Given the description of an element on the screen output the (x, y) to click on. 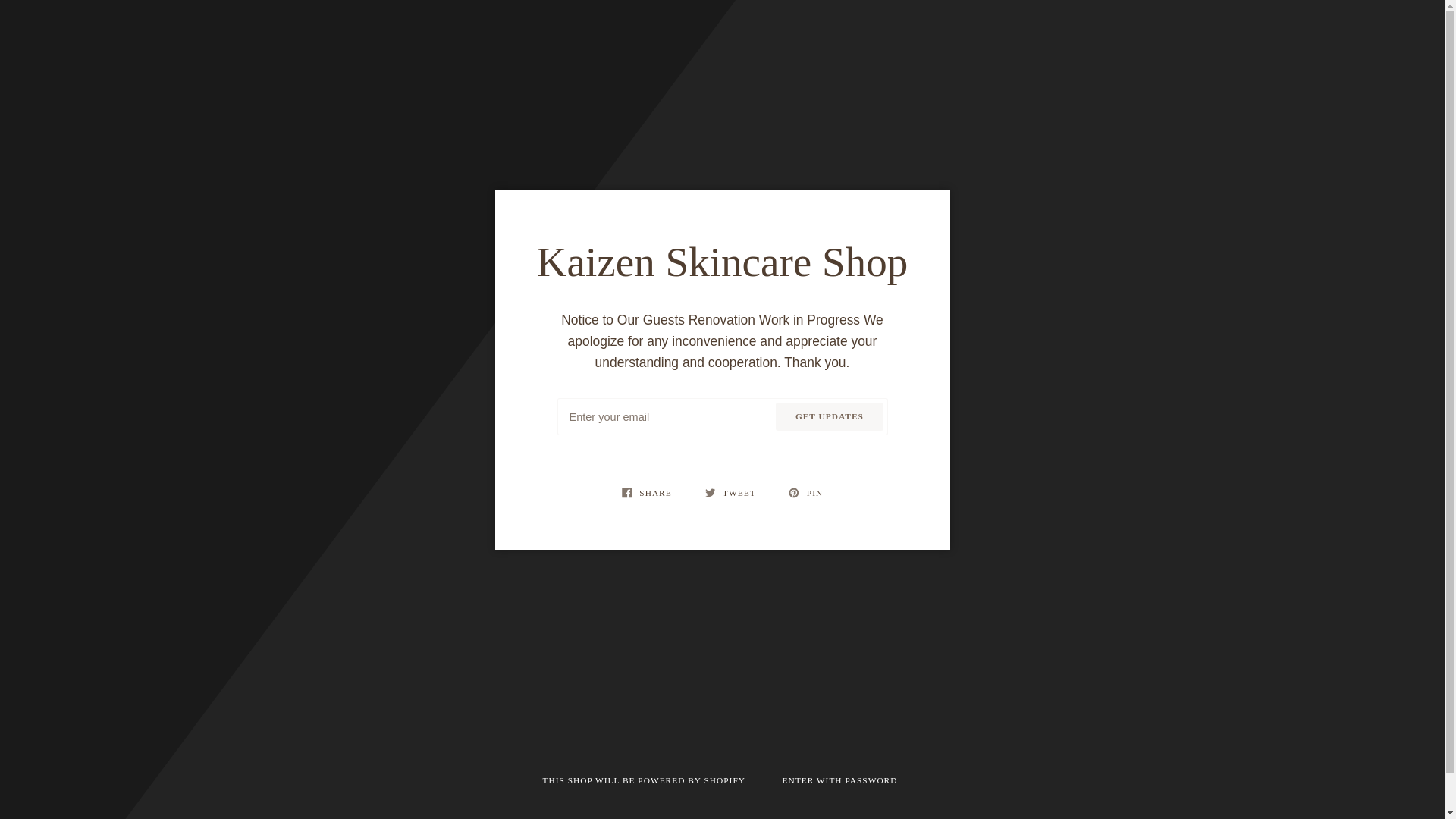
SHARE (648, 492)
Terms (722, 816)
GET UPDATES (829, 416)
TWEET (732, 492)
ENTER WITH PASSWORD (839, 780)
Privacy (722, 800)
THIS SHOP WILL BE POWERED BY SHOPIFY (645, 779)
PIN (804, 492)
